Given the description of an element on the screen output the (x, y) to click on. 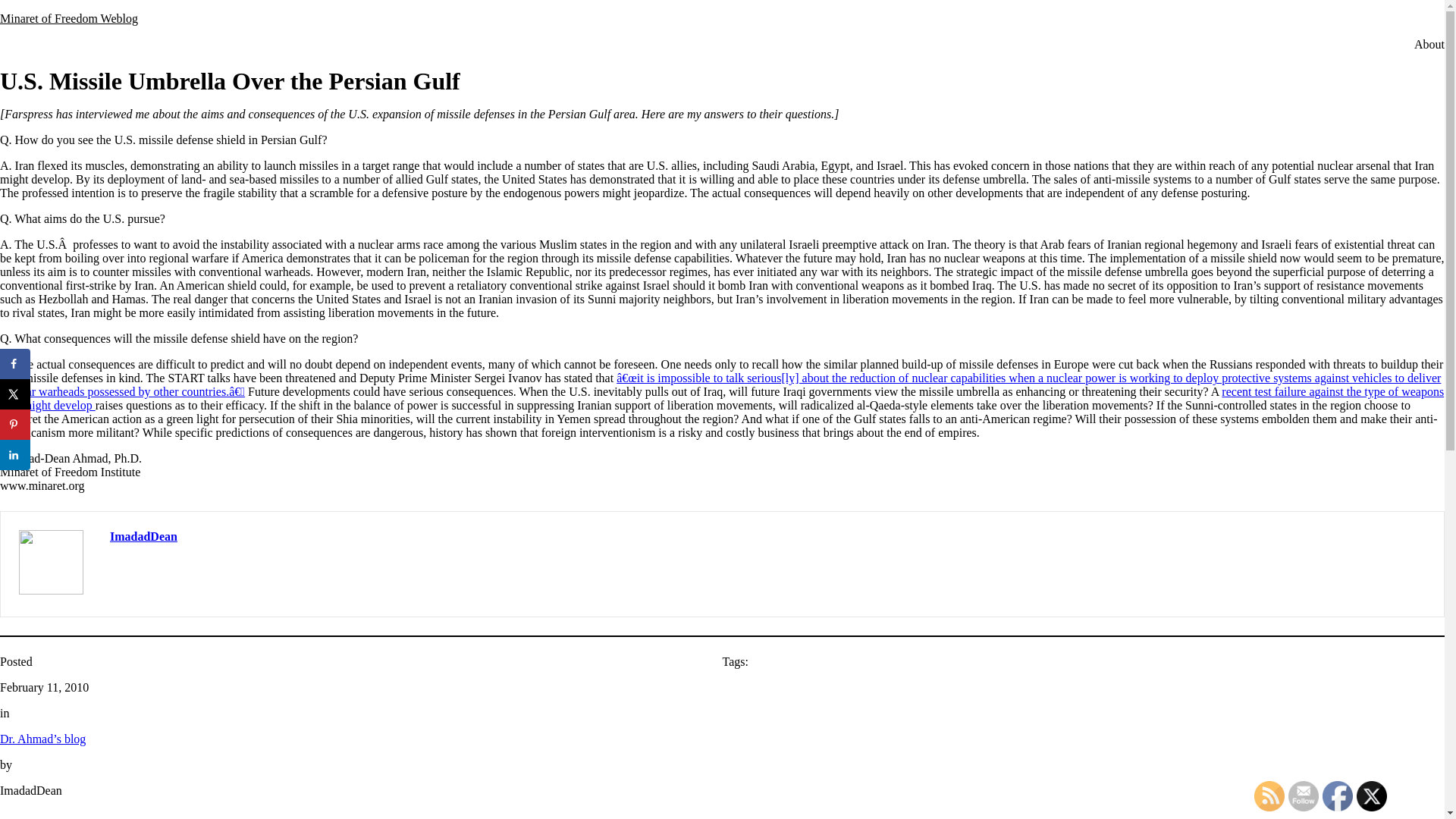
Twitter (1371, 796)
Save to Pinterest (15, 424)
Share on X (15, 394)
Minaret of Freedom Weblog (69, 18)
ImadadDean (143, 535)
Share on Facebook (15, 363)
RSS (1268, 796)
Follow by Email (1303, 796)
Facebook (1337, 796)
Share on LinkedIn (15, 454)
